Given the description of an element on the screen output the (x, y) to click on. 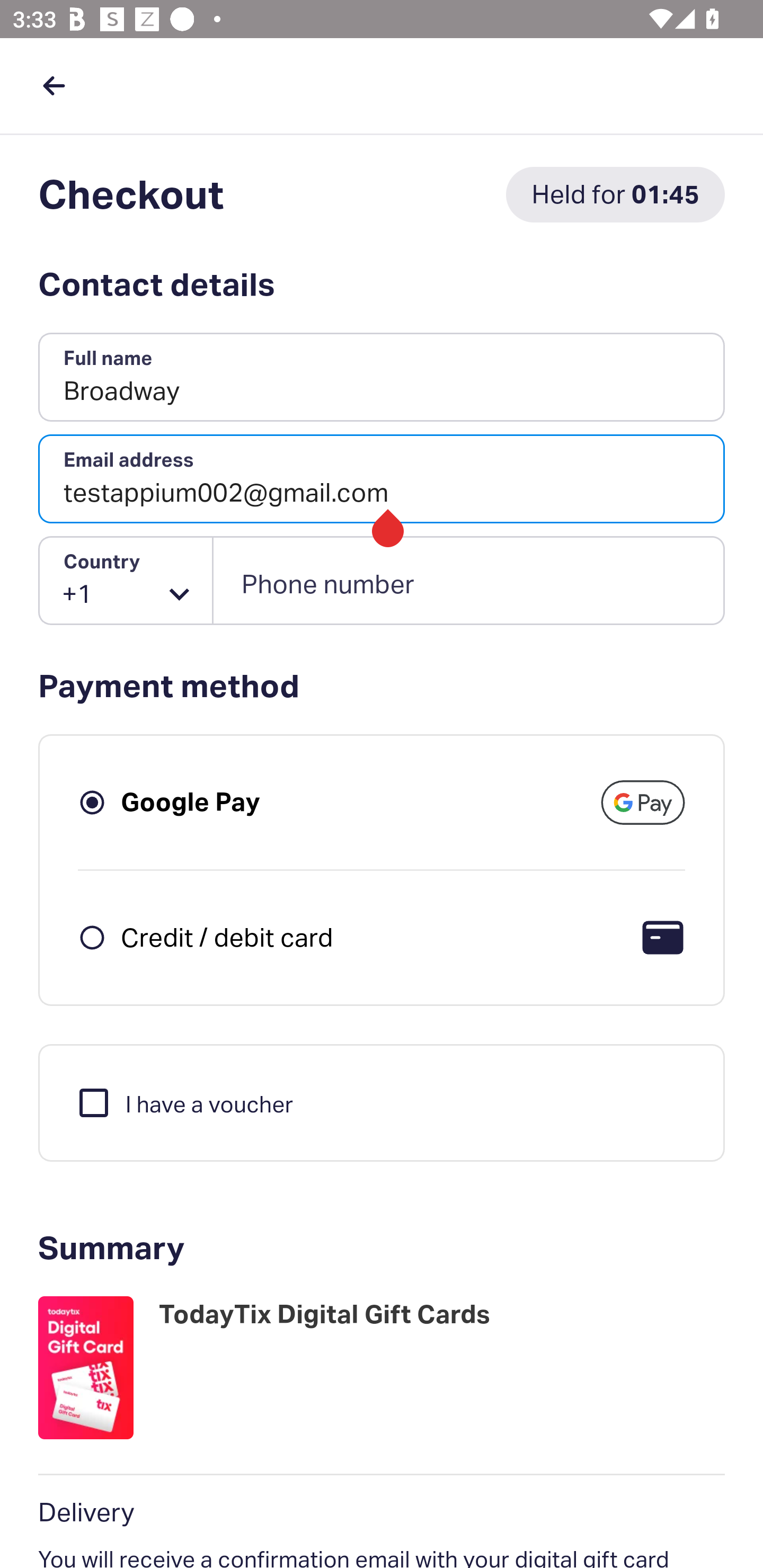
back button (53, 85)
Broadway (381, 377)
testappium002@gmail.com (381, 478)
  +1 (126, 580)
Google Pay (190, 802)
Credit / debit card (227, 936)
I have a voucher (183, 1101)
